Given the description of an element on the screen output the (x, y) to click on. 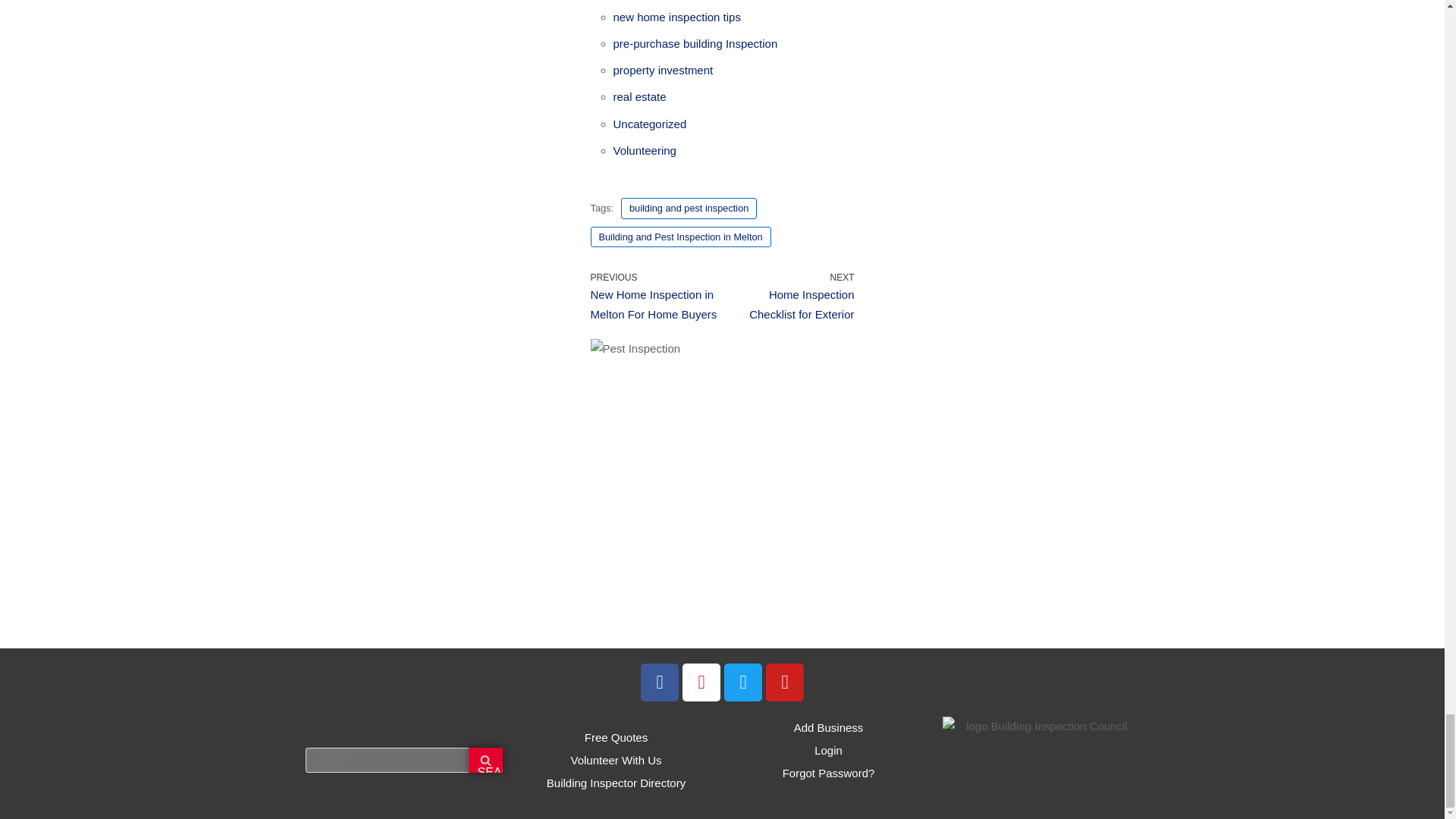
Search (485, 760)
building and pest inspection (689, 208)
Search (485, 760)
Building and Pest Inspection in Melton (679, 236)
